Given the description of an element on the screen output the (x, y) to click on. 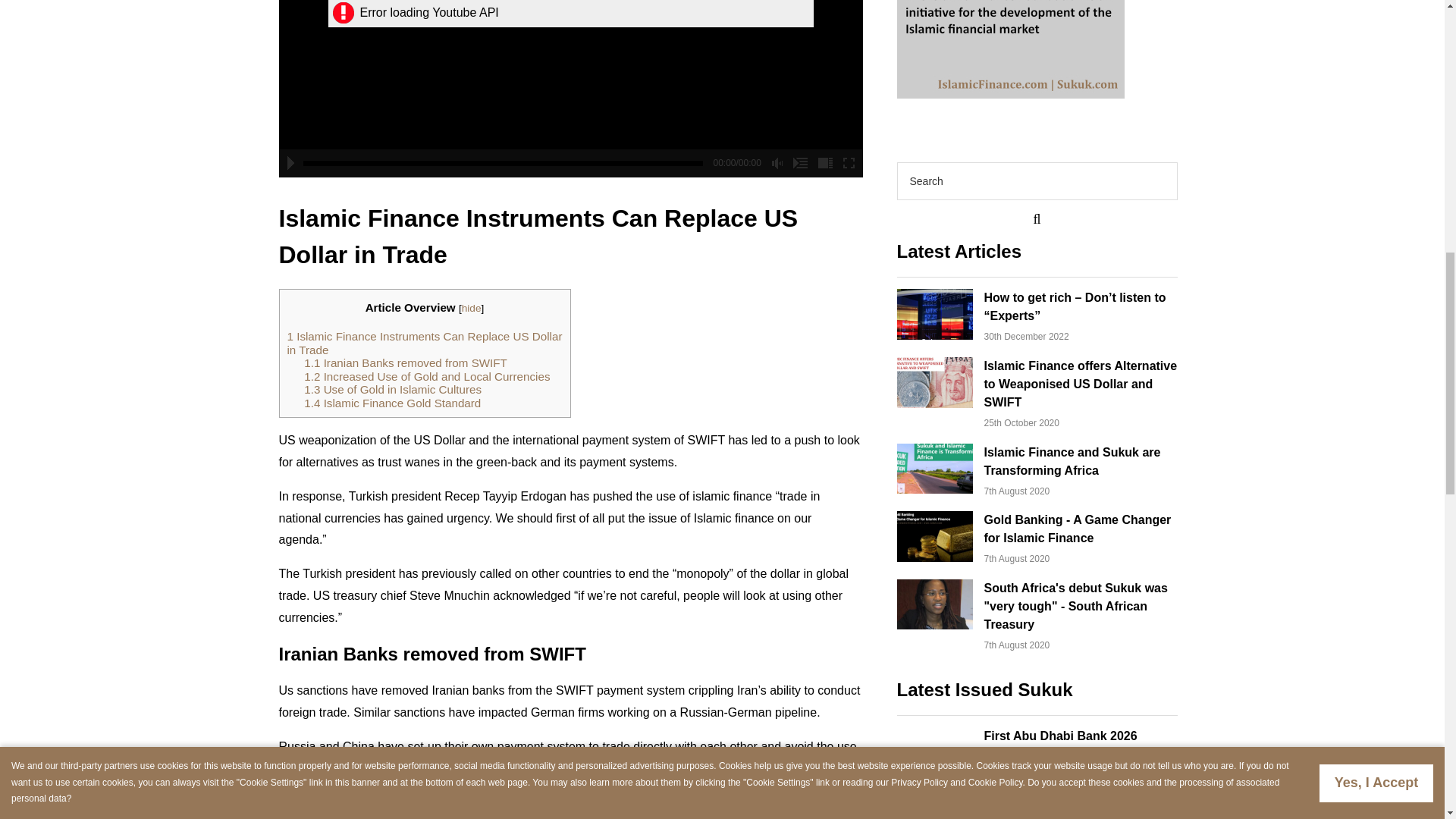
1.4 Islamic Finance Gold Standard (392, 402)
1 Islamic Finance Instruments Can Replace US Dollar in Trade (424, 342)
hide (471, 307)
1.2 Increased Use of Gold and Local Currencies (427, 376)
1.3 Use of Gold in Islamic Cultures (392, 389)
1.1 Iranian Banks removed from SWIFT (405, 362)
